Given the description of an element on the screen output the (x, y) to click on. 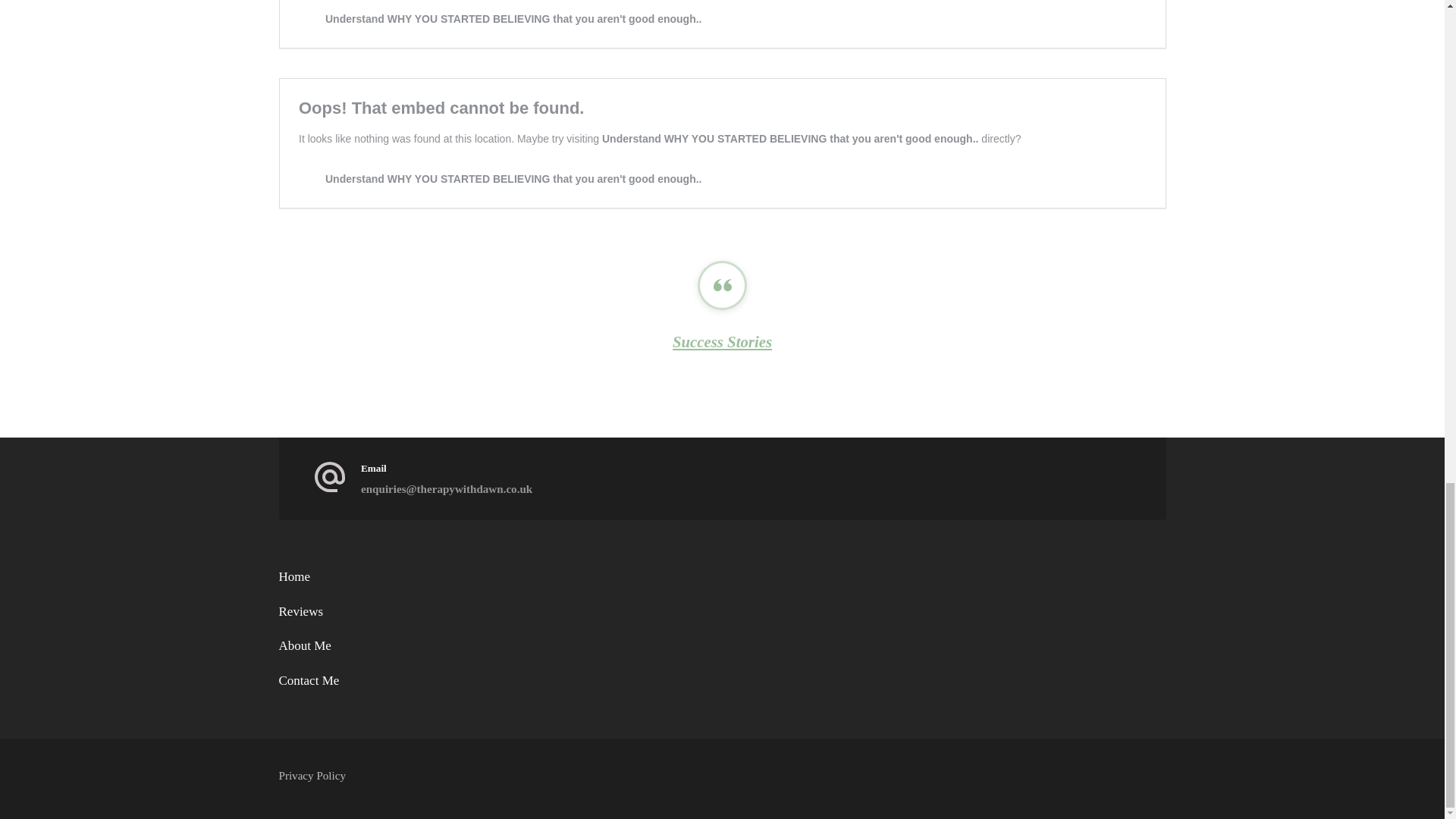
Privacy Policy (312, 775)
Reviews (301, 611)
Contact Me (309, 680)
Home (295, 576)
Success Stories (721, 341)
About Me (305, 645)
